Given the description of an element on the screen output the (x, y) to click on. 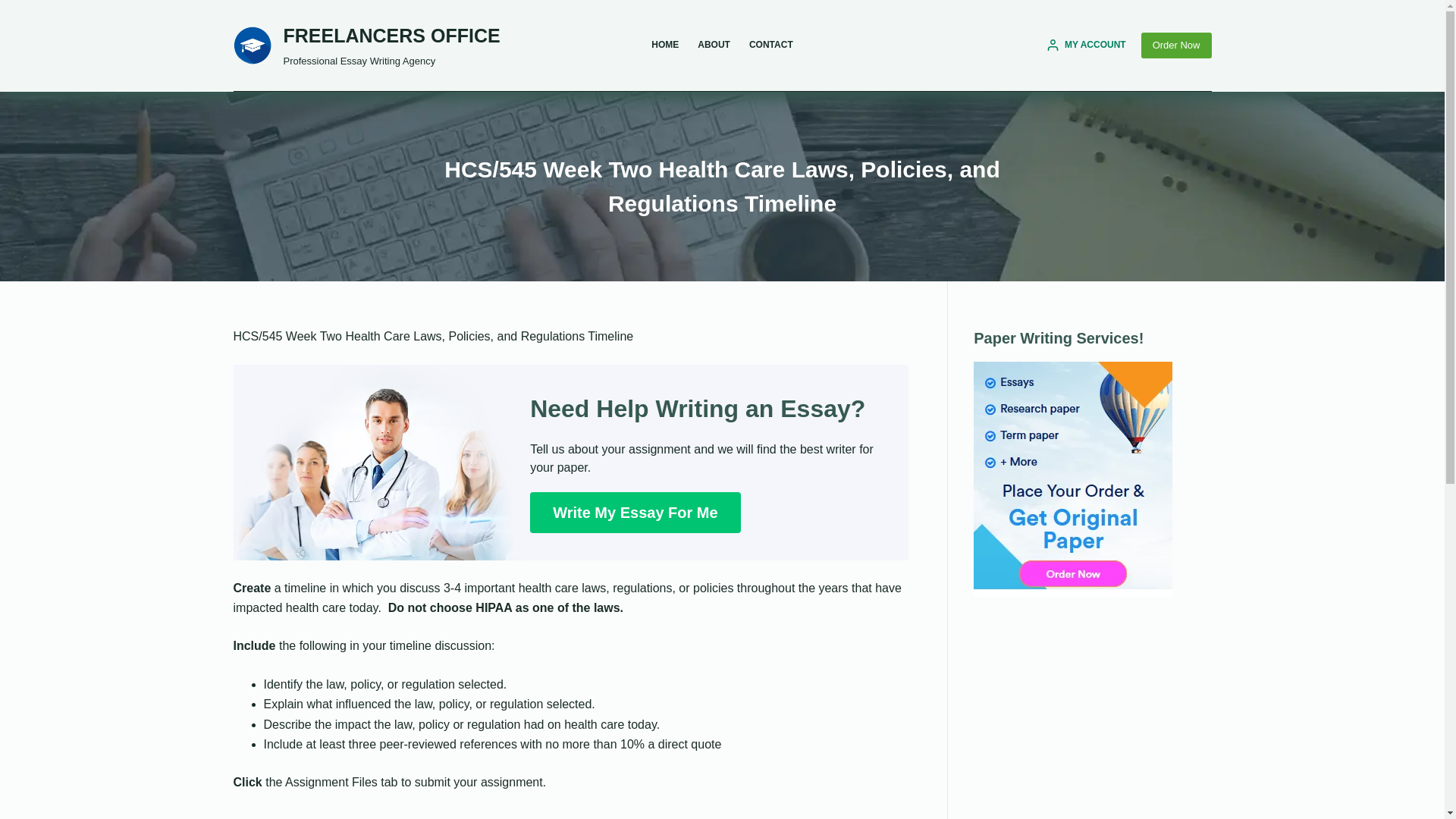
Write My Essay For Me (634, 512)
Skip to content (15, 7)
Order Now (1176, 45)
MY ACCOUNT (1085, 45)
FREELANCERS OFFICE (391, 35)
